Given the description of an element on the screen output the (x, y) to click on. 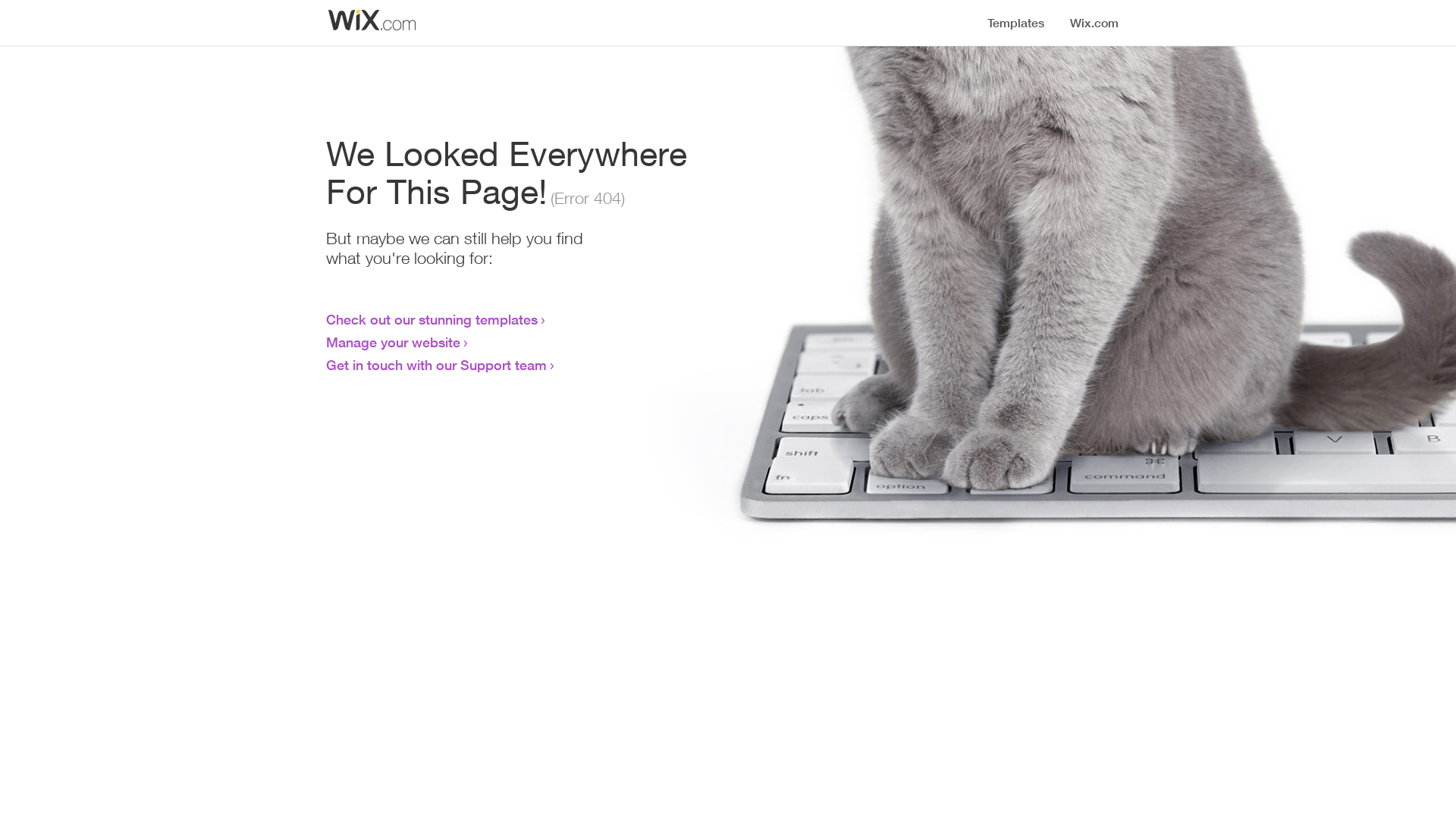
Manage your website Element type: text (393, 341)
Check out our stunning templates Element type: text (431, 318)
Get in touch with our Support team Element type: text (436, 364)
